Given the description of an element on the screen output the (x, y) to click on. 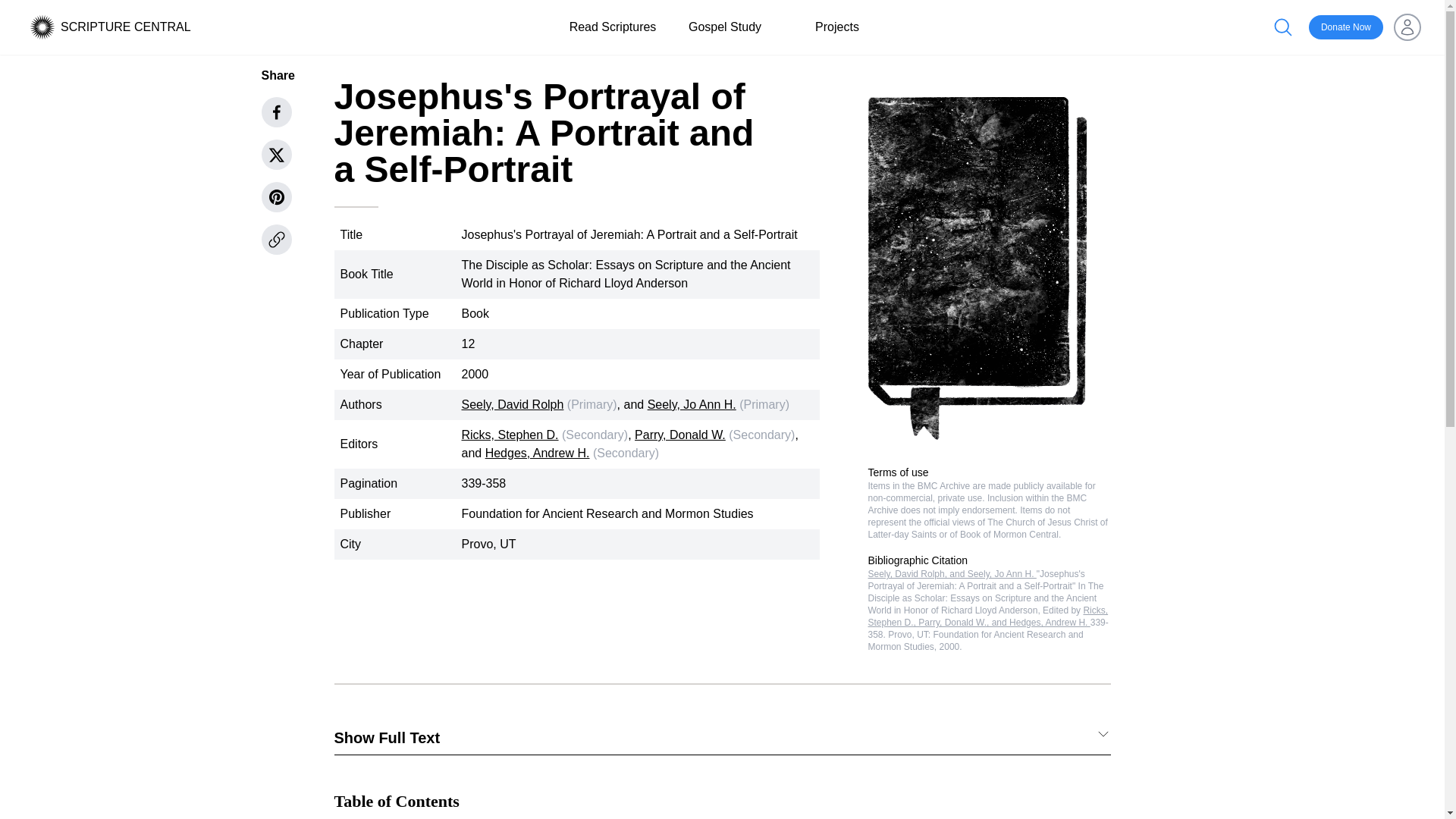
Read Scriptures (612, 26)
SCRIPTURE CENTRAL (125, 27)
Projects (837, 26)
Parry, Donald W. (679, 434)
Seely, David Rolph (512, 404)
Read Scriptures (612, 27)
Donate Now (1345, 27)
Seely, Jo Ann H. (691, 404)
Gospel Study (724, 27)
Gospel Study (724, 26)
Ricks, Stephen D. (509, 434)
Hedges, Andrew H. (536, 452)
Open user menu (1406, 27)
